Given the description of an element on the screen output the (x, y) to click on. 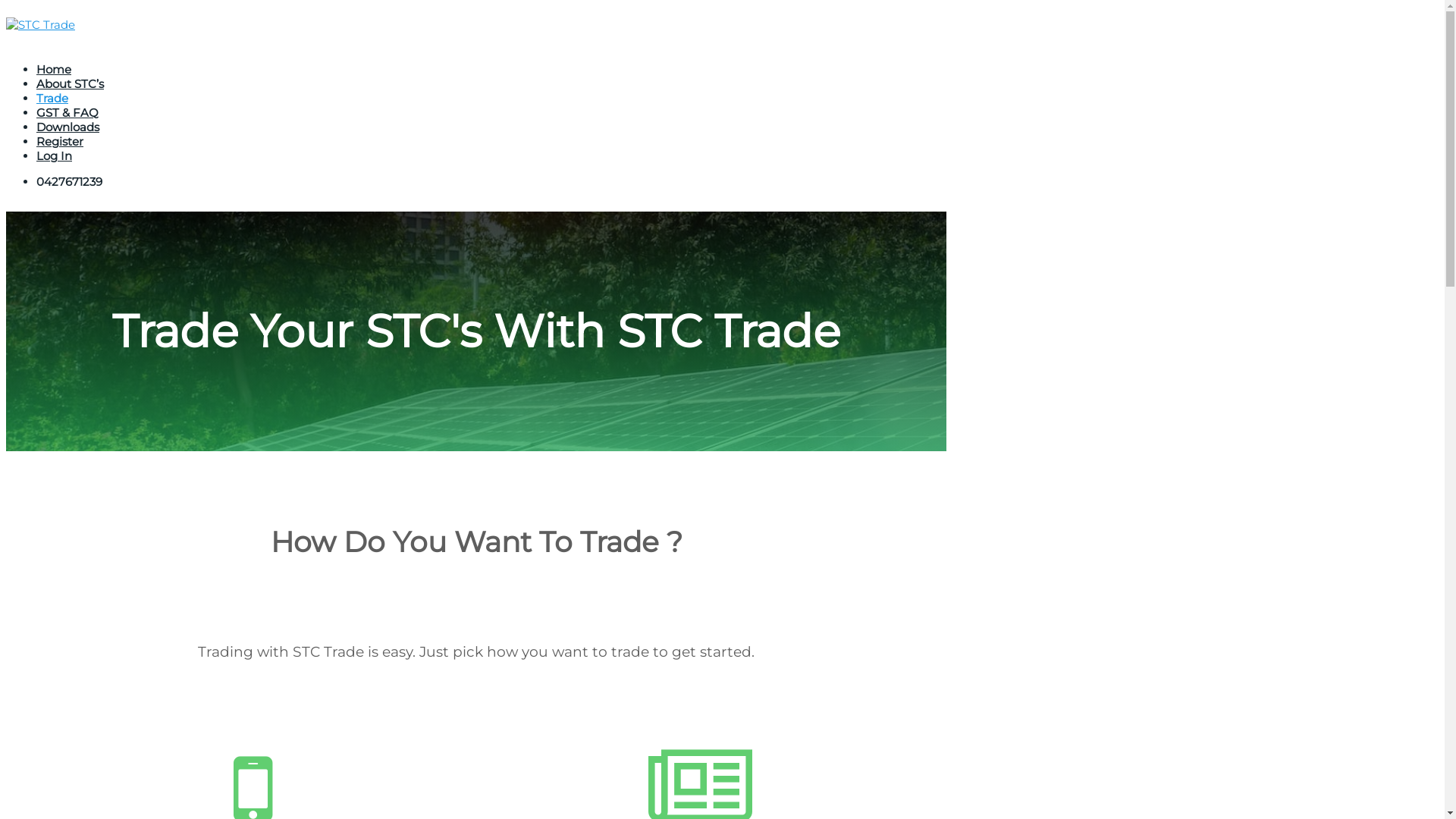
Log In Element type: text (54, 155)
GST & FAQ Element type: text (67, 112)
Trade Element type: text (52, 98)
Register Element type: text (59, 141)
Home Element type: text (53, 69)
Downloads Element type: text (67, 126)
